Given the description of an element on the screen output the (x, y) to click on. 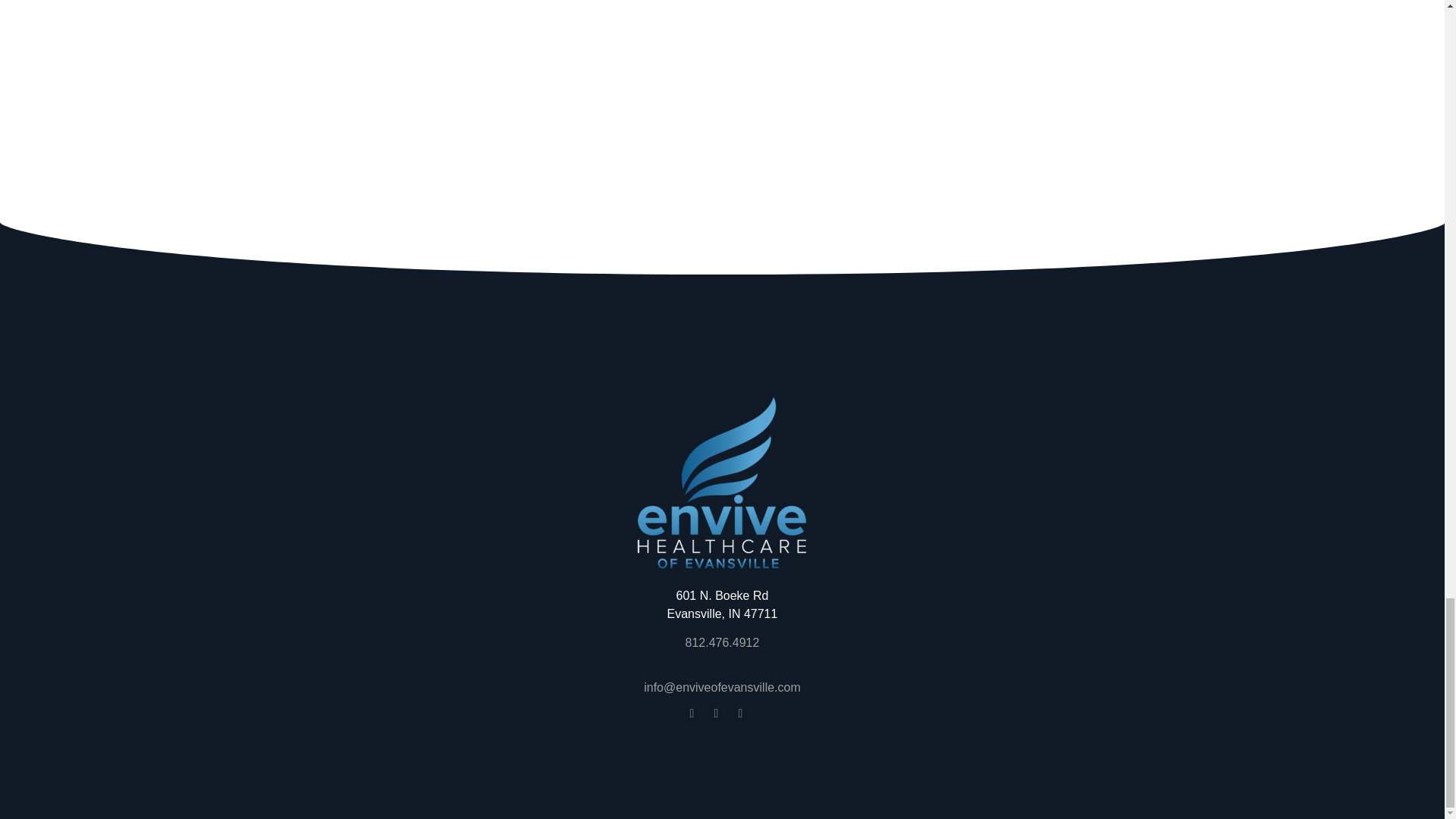
812.476.4912 (722, 642)
Submit (753, 56)
